Given the description of an element on the screen output the (x, y) to click on. 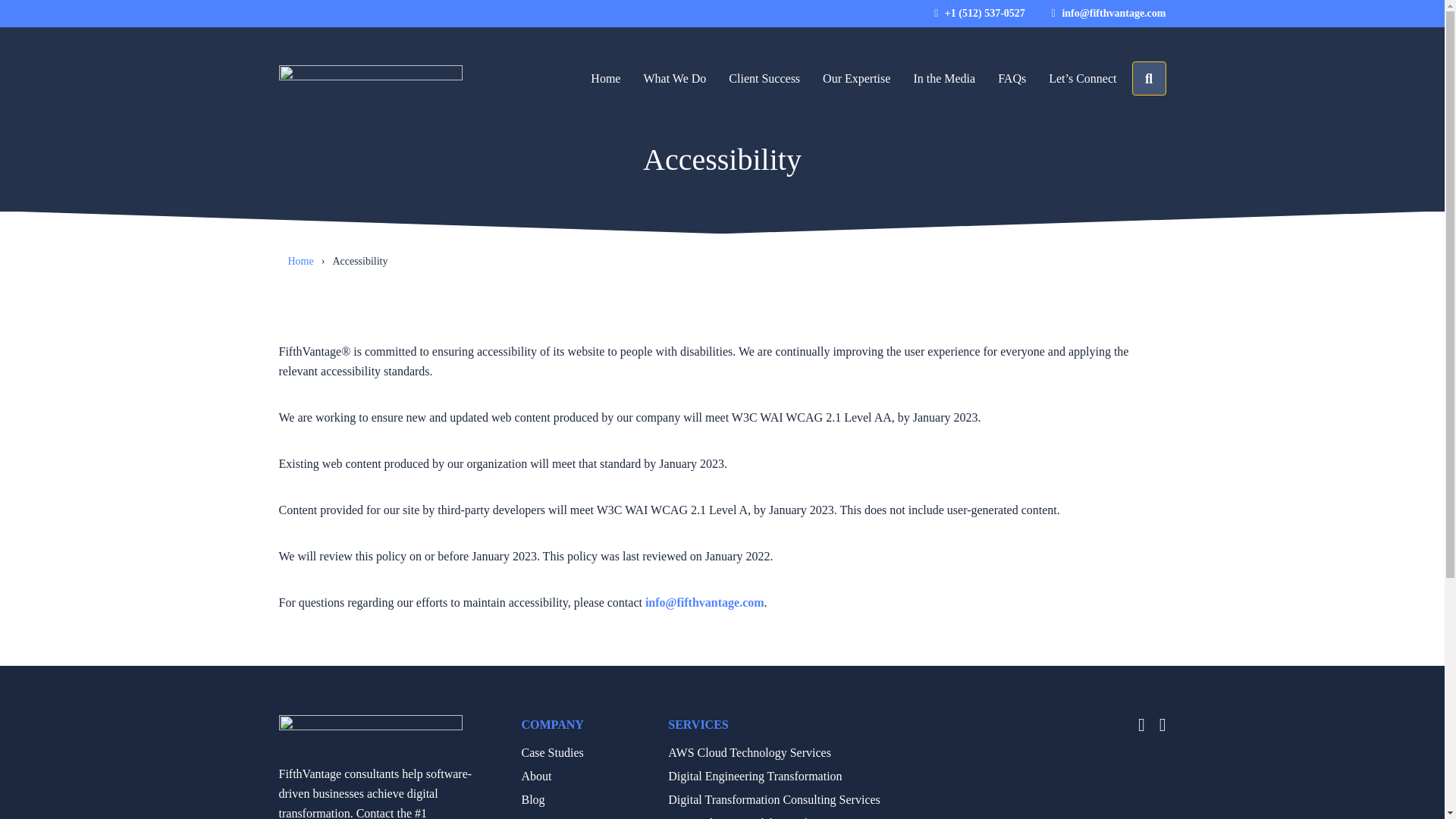
Home (605, 78)
Our Expertise (855, 78)
Client Success (764, 78)
In the Media (943, 78)
What We Do (674, 78)
FAQs (1011, 78)
